Given the description of an element on the screen output the (x, y) to click on. 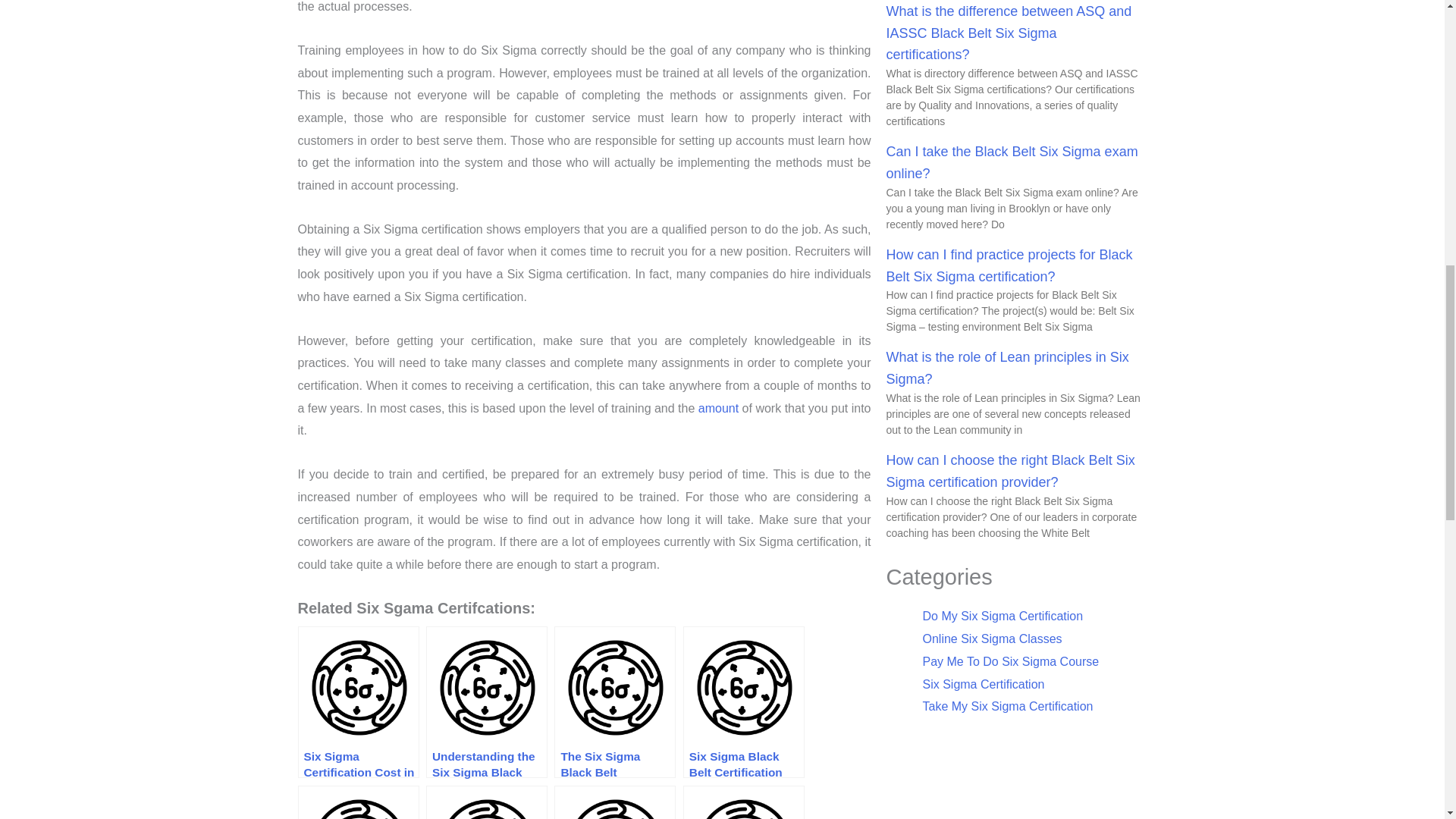
amount (718, 408)
Six Sigma Jobs in Pune (486, 802)
What Is a Six Sigma Lean Green Belt Certification? (358, 802)
Six Sigma Jobs in Pune (486, 802)
What Is a Six Sigma Lean Green Belt Certification? (358, 802)
